Given the description of an element on the screen output the (x, y) to click on. 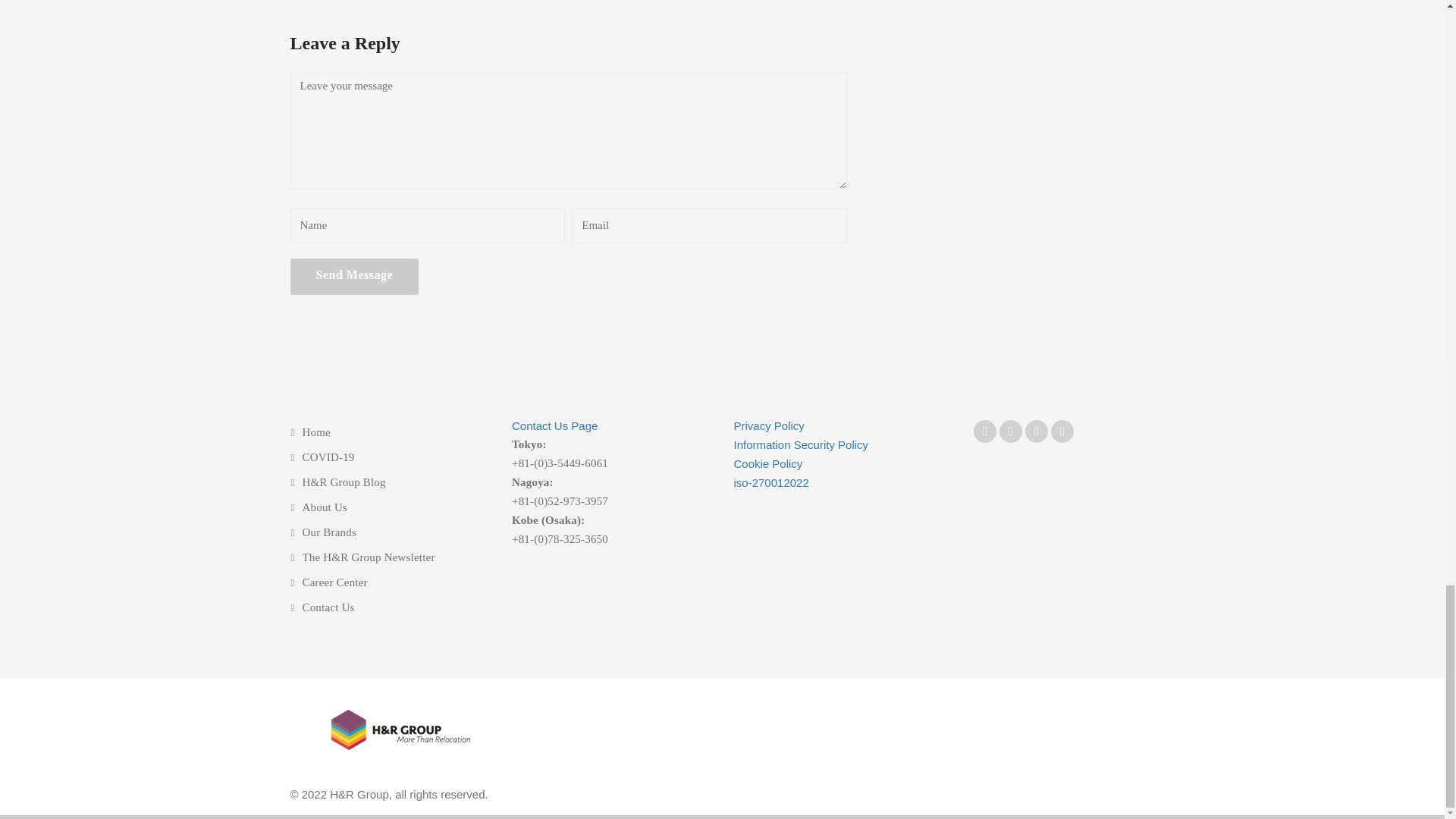
Send Message (354, 275)
